Given the description of an element on the screen output the (x, y) to click on. 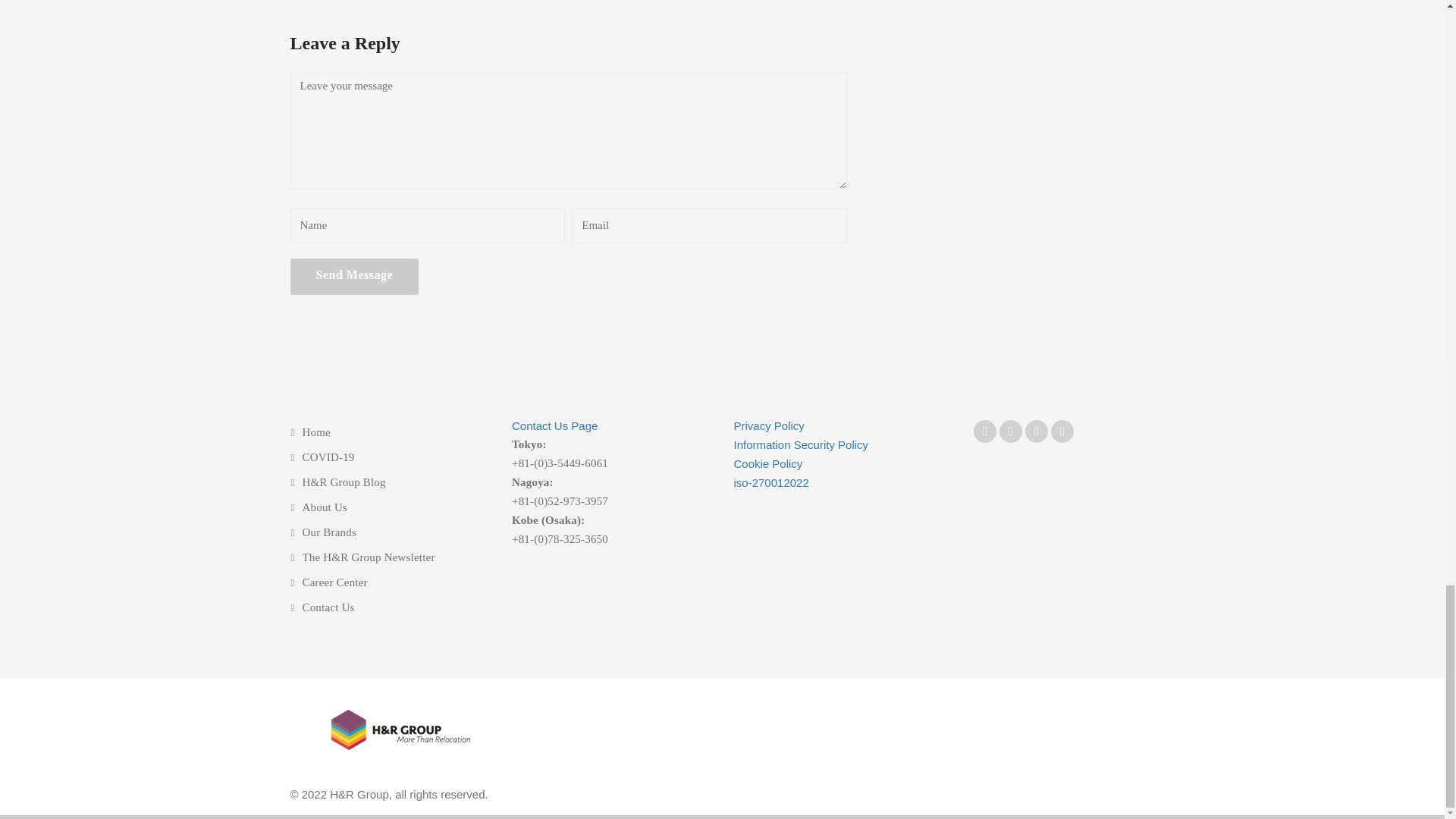
Send Message (354, 275)
